Given the description of an element on the screen output the (x, y) to click on. 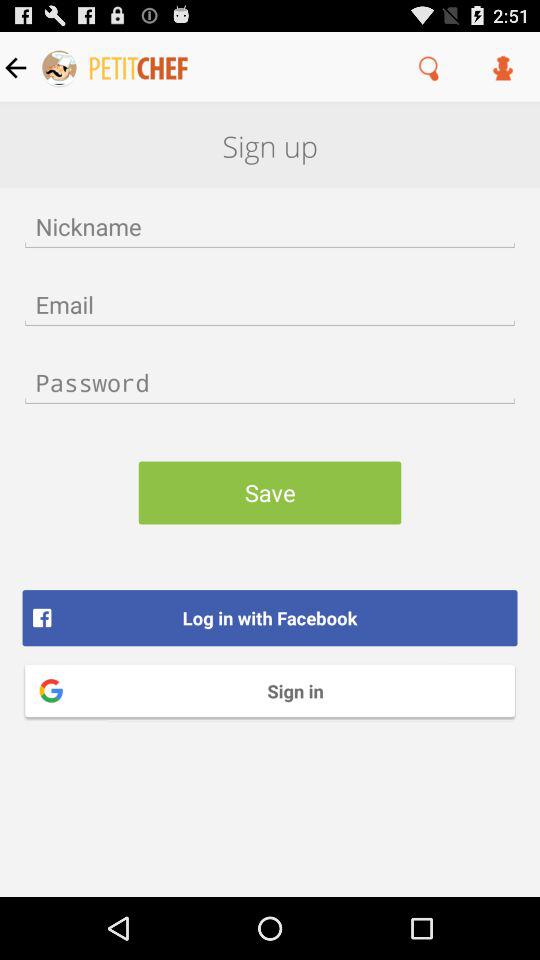
nickname signup (269, 226)
